Given the description of an element on the screen output the (x, y) to click on. 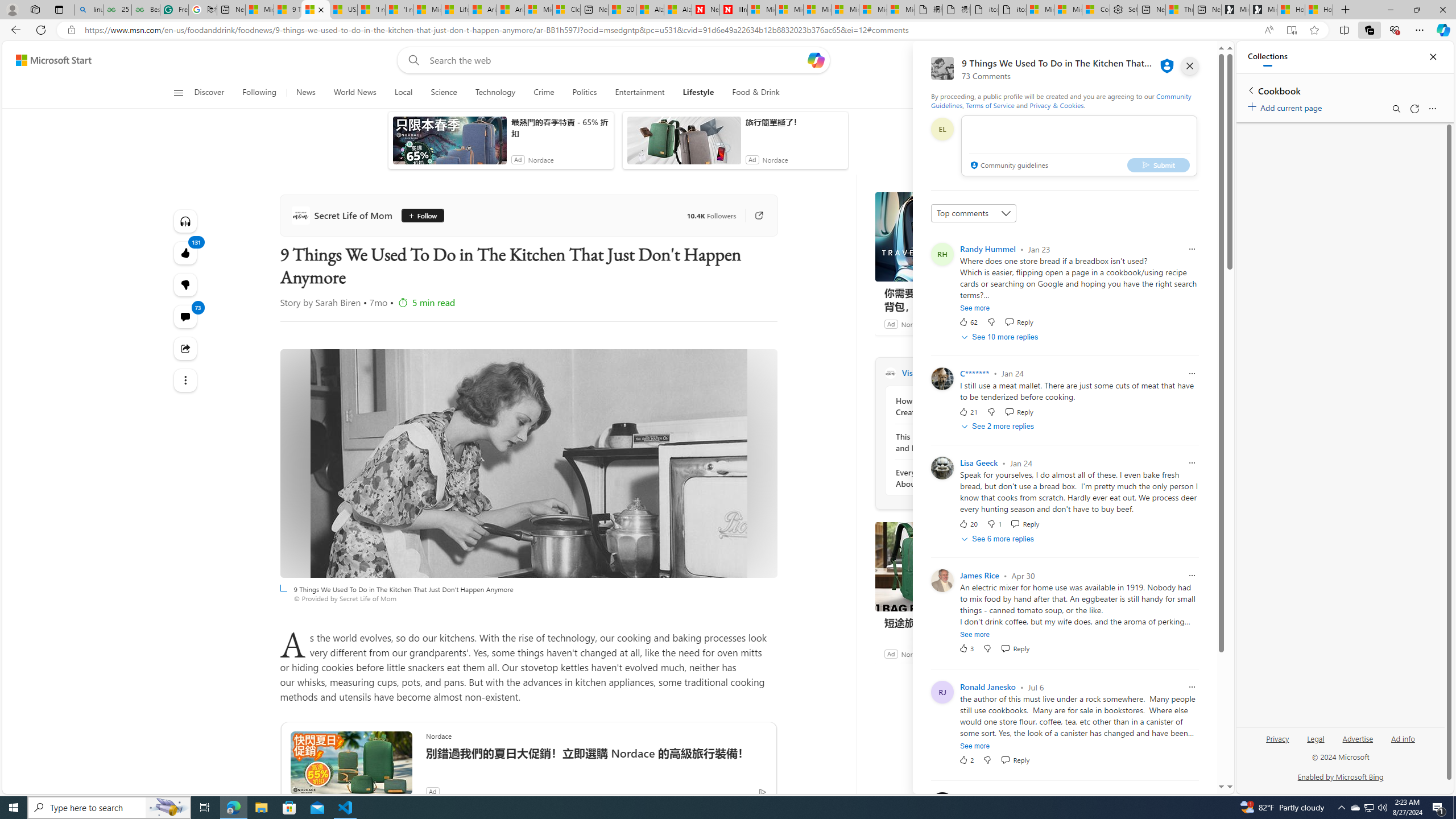
Terms of Service (989, 104)
Report comment (1191, 798)
Lifestyle - MSN (454, 9)
Free AI Writing Assistance for Students | Grammarly (174, 9)
